Given the description of an element on the screen output the (x, y) to click on. 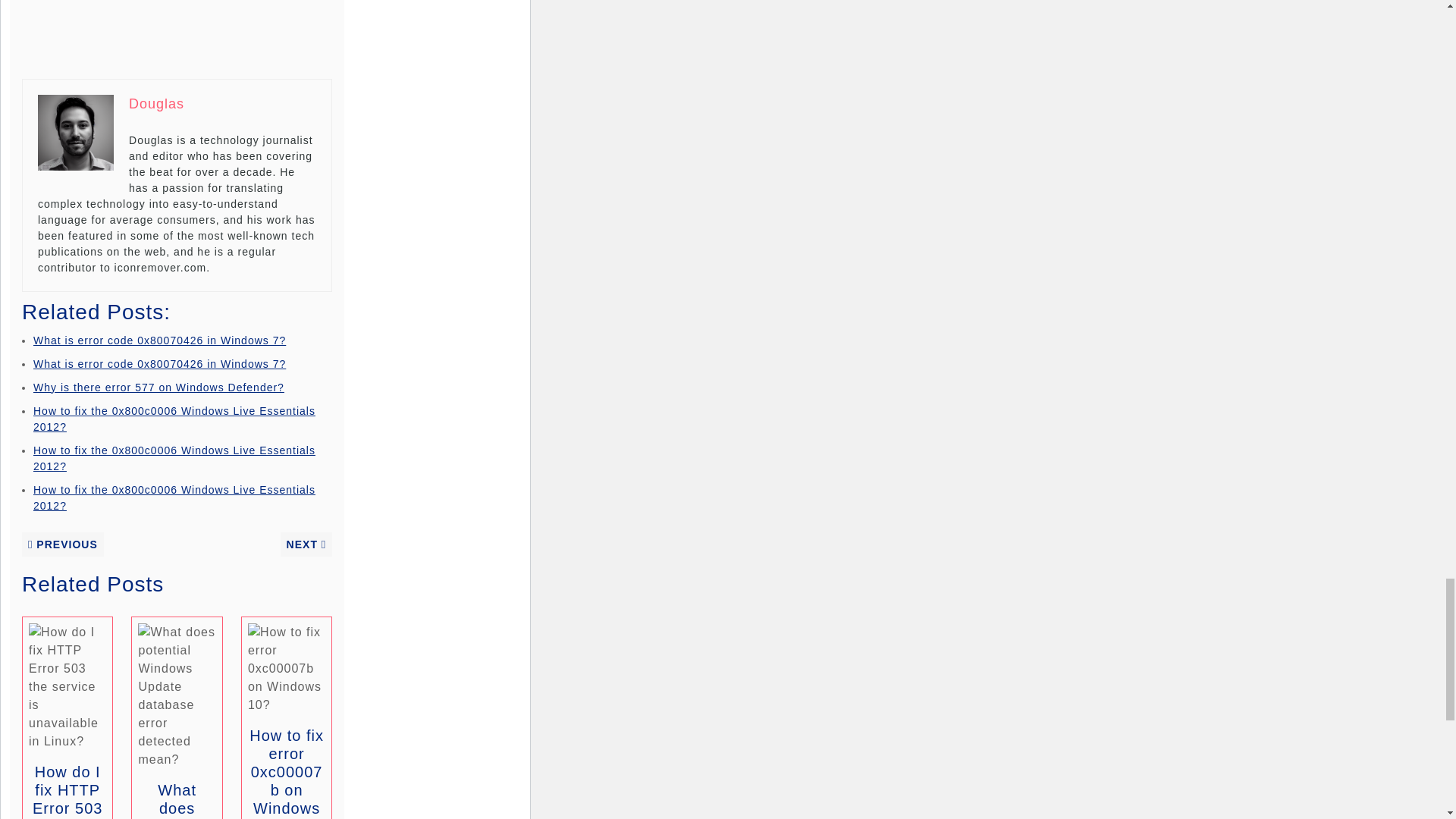
Douglas (156, 103)
Why is there error 577 on Windows Defender? (158, 387)
How to fix the 0x800c0006 Windows Live Essentials 2012? (174, 497)
What is error code 0x80070426 in Windows 7? (159, 363)
PREVIOUS (62, 543)
How to fix the 0x800c0006 Windows Live Essentials 2012? (174, 418)
What is error code 0x80070426 in Windows 7? (159, 340)
How to fix the 0x800c0006 Windows Live Essentials 2012? (174, 458)
How to fix error 0xc00007b on Windows 10? (285, 773)
NEXT (307, 543)
